Given the description of an element on the screen output the (x, y) to click on. 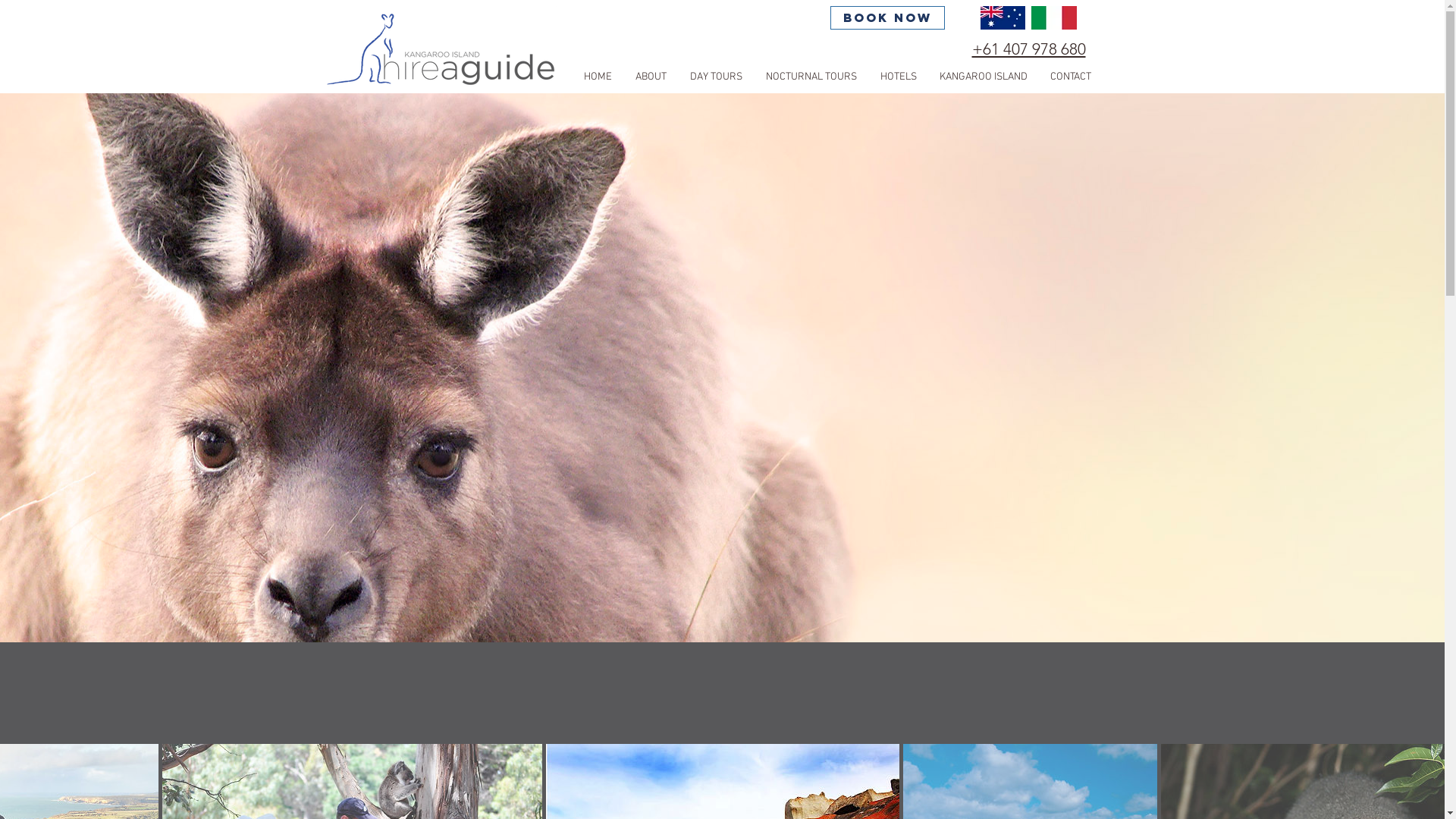
CONTACT Element type: text (1070, 76)
ABOUT Element type: text (650, 76)
KANGAROO ISLAND Element type: text (983, 76)
+61 407 978 680 Element type: text (1028, 48)
HOME Element type: text (597, 76)
NOCTURNAL TOURS Element type: text (810, 76)
HOTELS Element type: text (898, 76)
DAY TOURS Element type: text (715, 76)
BOOK NOW Element type: text (886, 17)
